Given the description of an element on the screen output the (x, y) to click on. 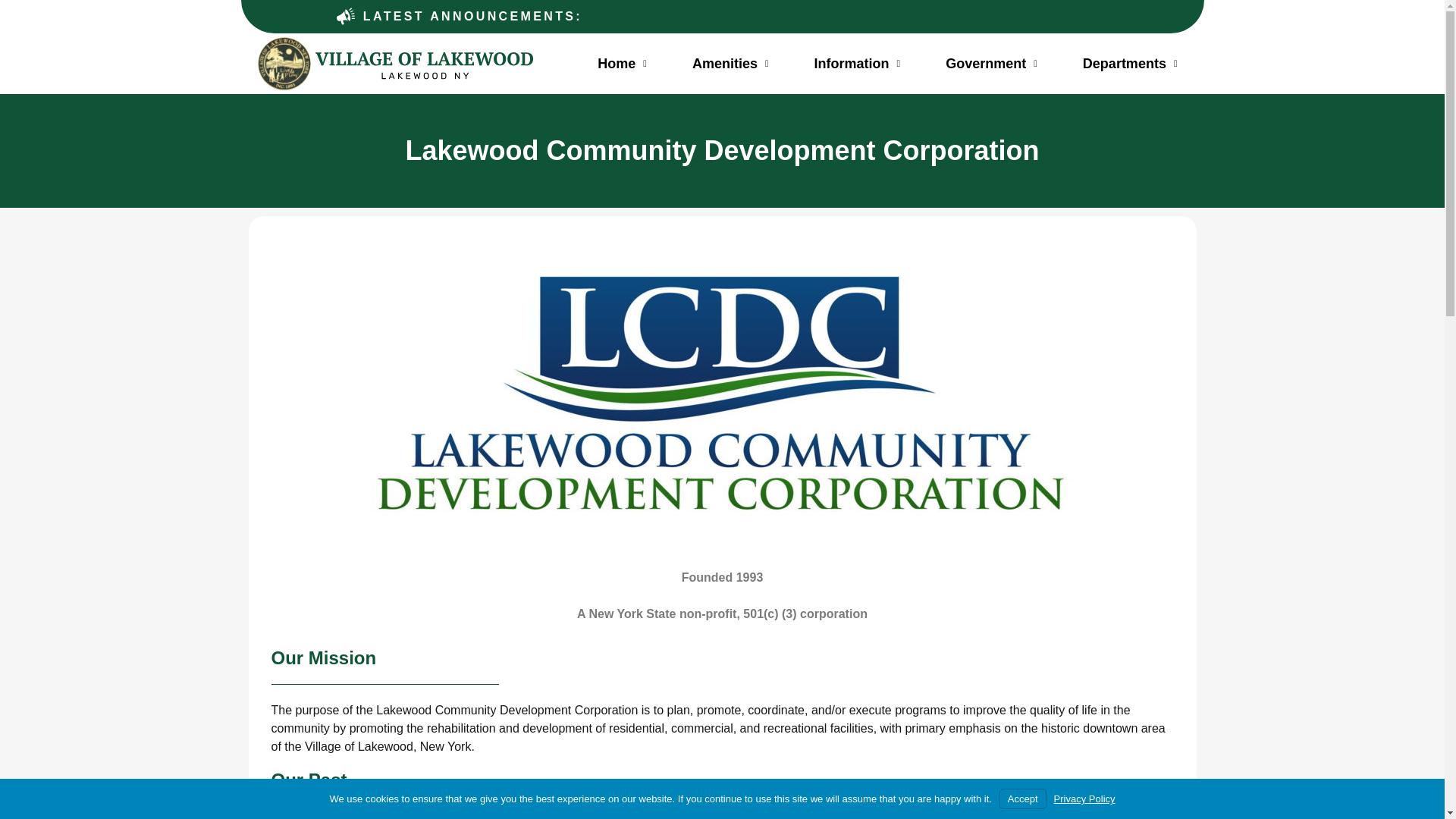
Home (622, 63)
Amenities (730, 63)
Information (857, 63)
Government (991, 63)
